Given the description of an element on the screen output the (x, y) to click on. 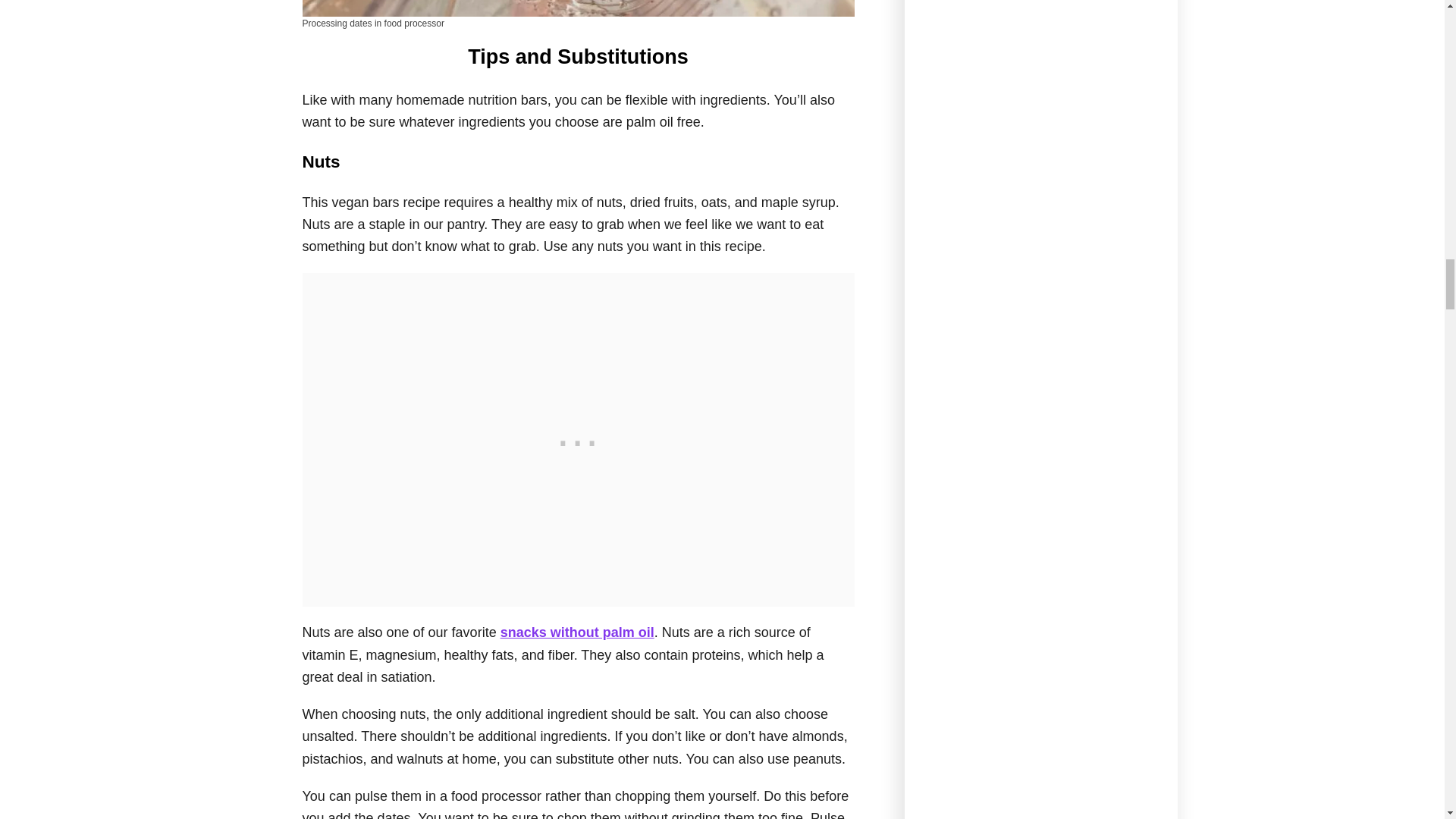
snacks without palm oil (576, 631)
